Given the description of an element on the screen output the (x, y) to click on. 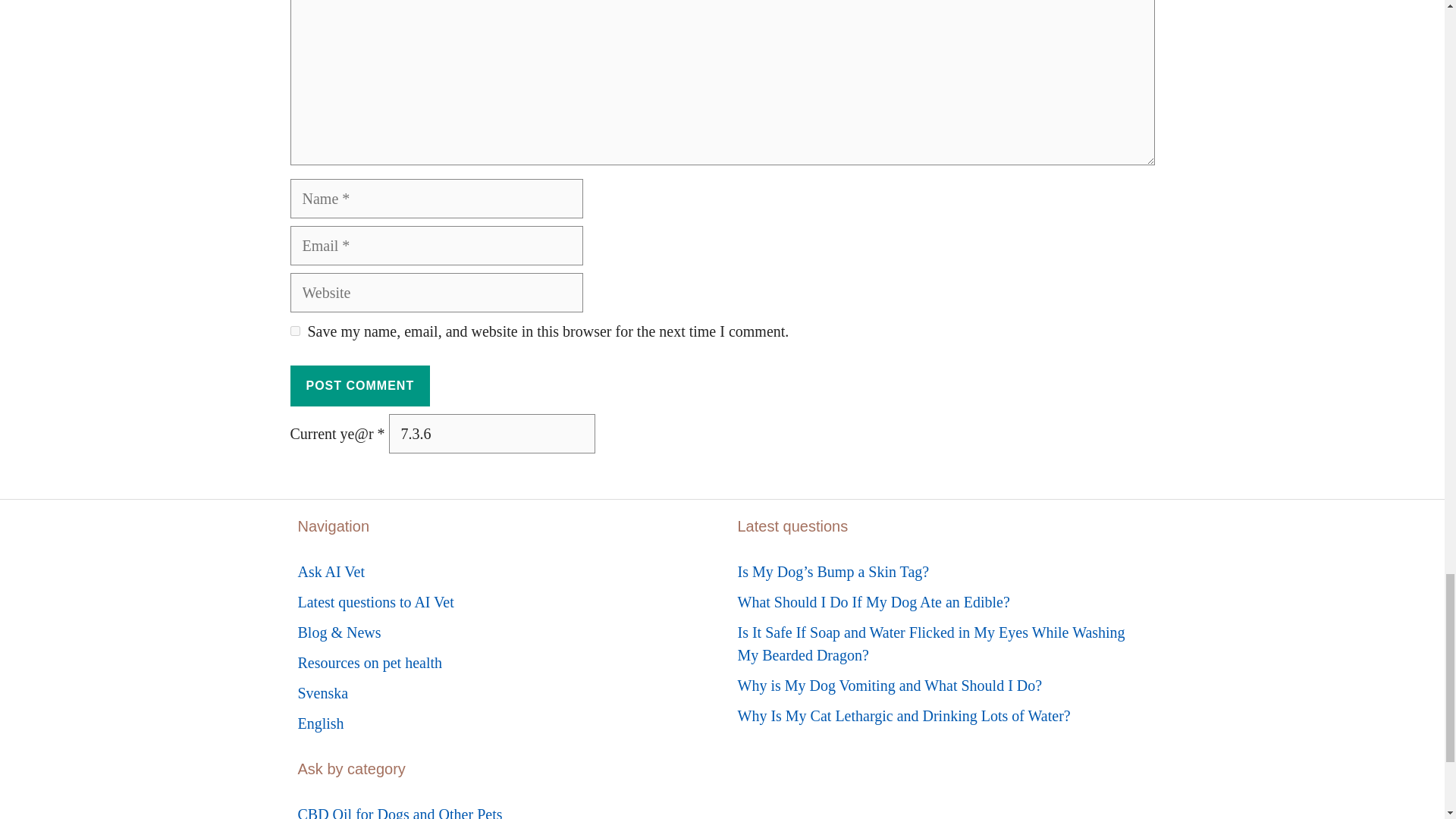
Why is My Dog Vomiting and What Should I Do? (889, 685)
yes (294, 330)
7.3.6 (491, 433)
Latest questions to AI Vet (374, 601)
Post Comment (359, 385)
What Should I Do If My Dog Ate an Edible? (872, 601)
English (320, 723)
Why Is My Cat Lethargic and Drinking Lots of Water? (903, 715)
CBD Oil for Dogs and Other Pets (399, 812)
Post Comment (359, 385)
Ask AI Vet (331, 571)
Svenska (322, 692)
Resources on pet health (369, 662)
